Given the description of an element on the screen output the (x, y) to click on. 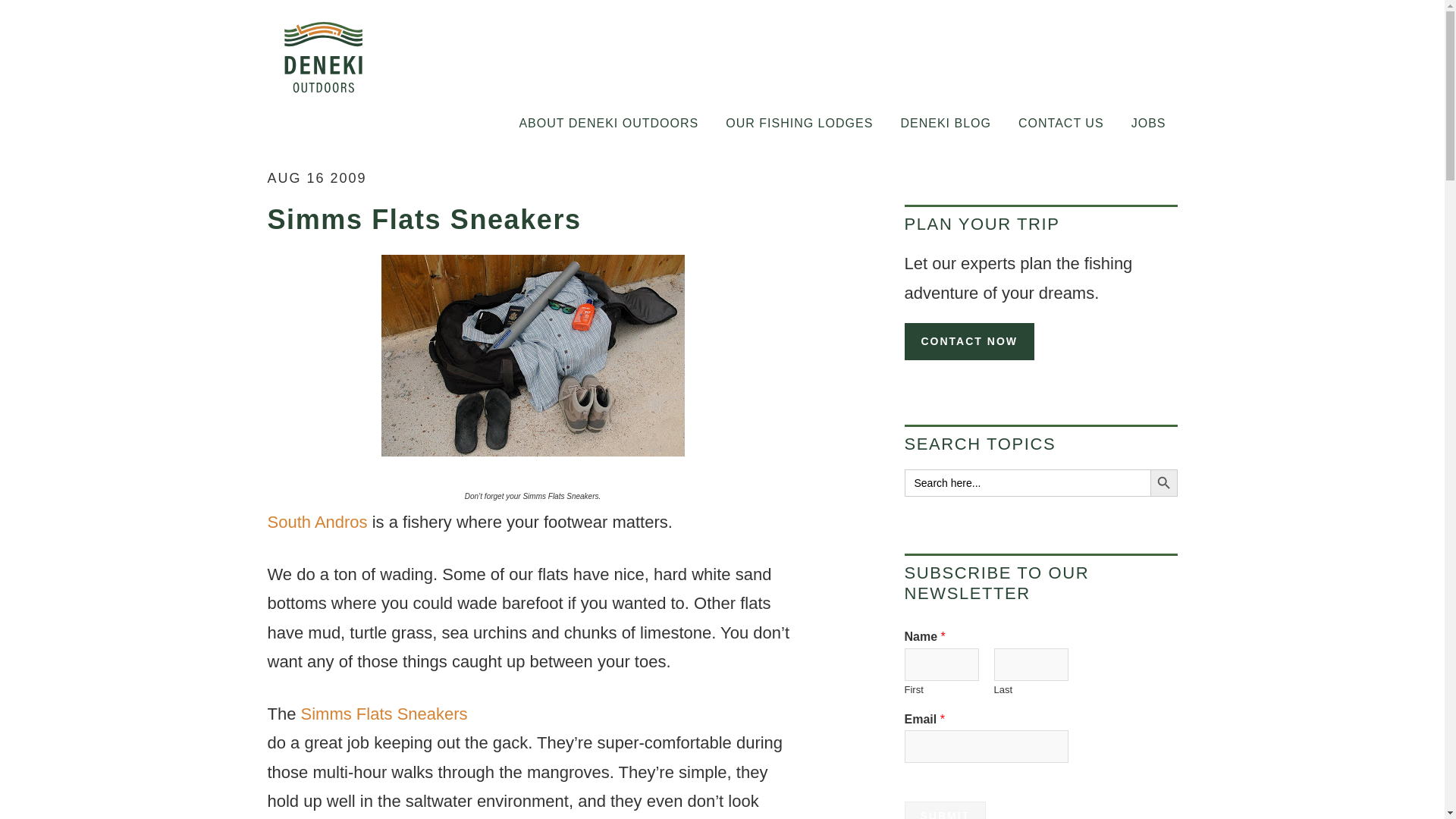
DENEKI BLOG (944, 124)
JOBS (1148, 124)
CONTACT US (1061, 124)
Simms Flats Sneakers (566, 728)
Information and Reservations (1061, 124)
ABOUT DENEKI OUTDOORS (608, 124)
OUR FISHING LODGES (798, 124)
DENEKI OUTDOORS FISHING LODGES (403, 56)
CONTACT NOW (968, 341)
South Andros (316, 521)
